Given the description of an element on the screen output the (x, y) to click on. 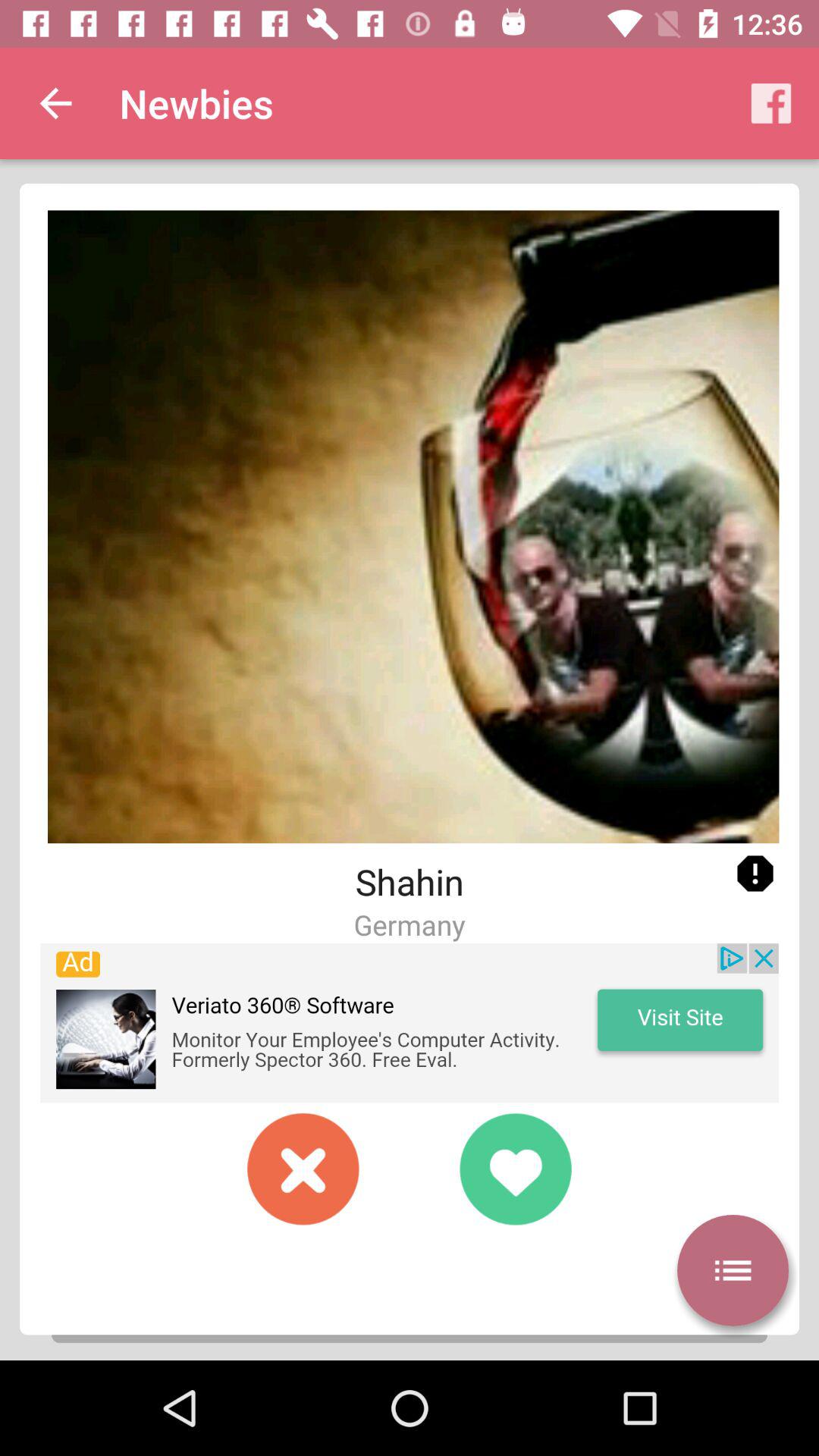
cancel the current result (303, 1169)
